Given the description of an element on the screen output the (x, y) to click on. 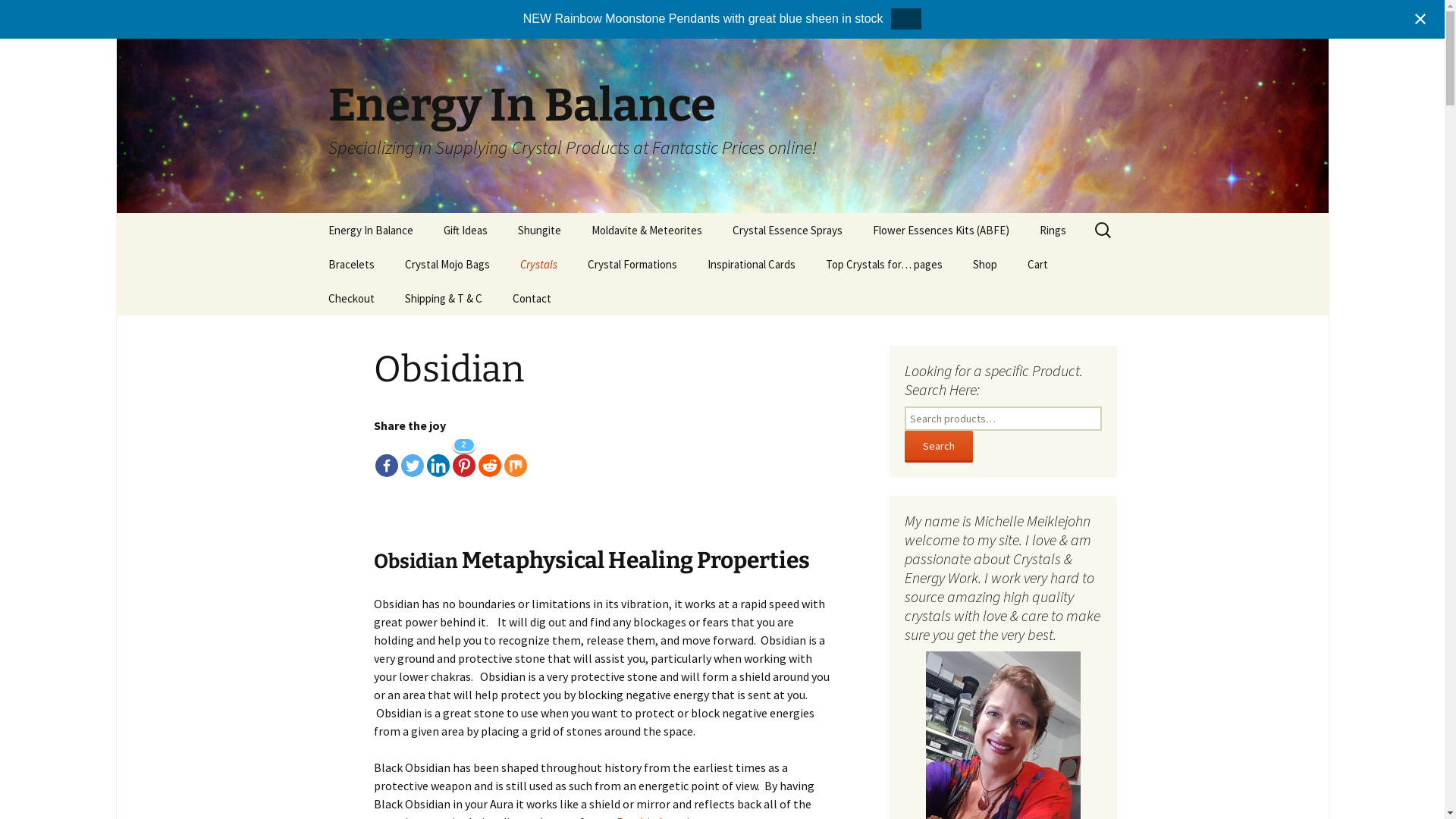
Contact Element type: text (531, 298)
Amethyst Rings Element type: text (1099, 264)
Cart Element type: text (1036, 264)
Top 7 Ways to use Shungite for EMF Protection Element type: text (885, 309)
Skip to content Element type: text (312, 212)
How to Spot a fake piece of Moldavite Element type: text (652, 269)
Rings Element type: text (1051, 230)
Shop Element type: text (984, 264)
Privacy Policy Element type: text (465, 332)
Gift Ideas Element type: text (464, 230)
Chakra Hanger Element type: text (465, 298)
Reddit Element type: hover (488, 456)
EMF Radiation-Free Air Tube Earbud Headphones Element type: text (577, 275)
Aegirine (Acmite) Element type: text (580, 298)
Flower Essences Kits (ABFE) Element type: text (939, 230)
Crystals Element type: text (538, 264)
Crystal Formations Element type: text (631, 264)
Shipping & T & C Element type: text (443, 298)
Search Element type: text (18, 16)
Crystal Essence Sprays Element type: text (787, 230)
Inspirational Cards Element type: text (750, 264)
Crystal Mojo Bags Element type: text (447, 264)
Checkout Element type: text (350, 298)
Bracelets Element type: text (350, 264)
Channel Face Element type: text (647, 298)
Twitter Element type: hover (411, 456)
Times To Celebrate Element type: text (388, 264)
Mix Element type: hover (514, 456)
Facebook Element type: hover (385, 456)
Shungite Element type: text (538, 230)
Search Element type: text (937, 446)
Linkedin Element type: hover (437, 456)
Abundance Crystal Essence Spray 50ml Element type: text (793, 269)
2 Element type: text (462, 456)
Moldavite & Meteorites Element type: text (646, 230)
Energy In Balance Element type: text (369, 230)
Search Element type: text (34, 15)
EMF (5G) Protection and Cellular Regeneration Kits Element type: text (932, 275)
